Given the description of an element on the screen output the (x, y) to click on. 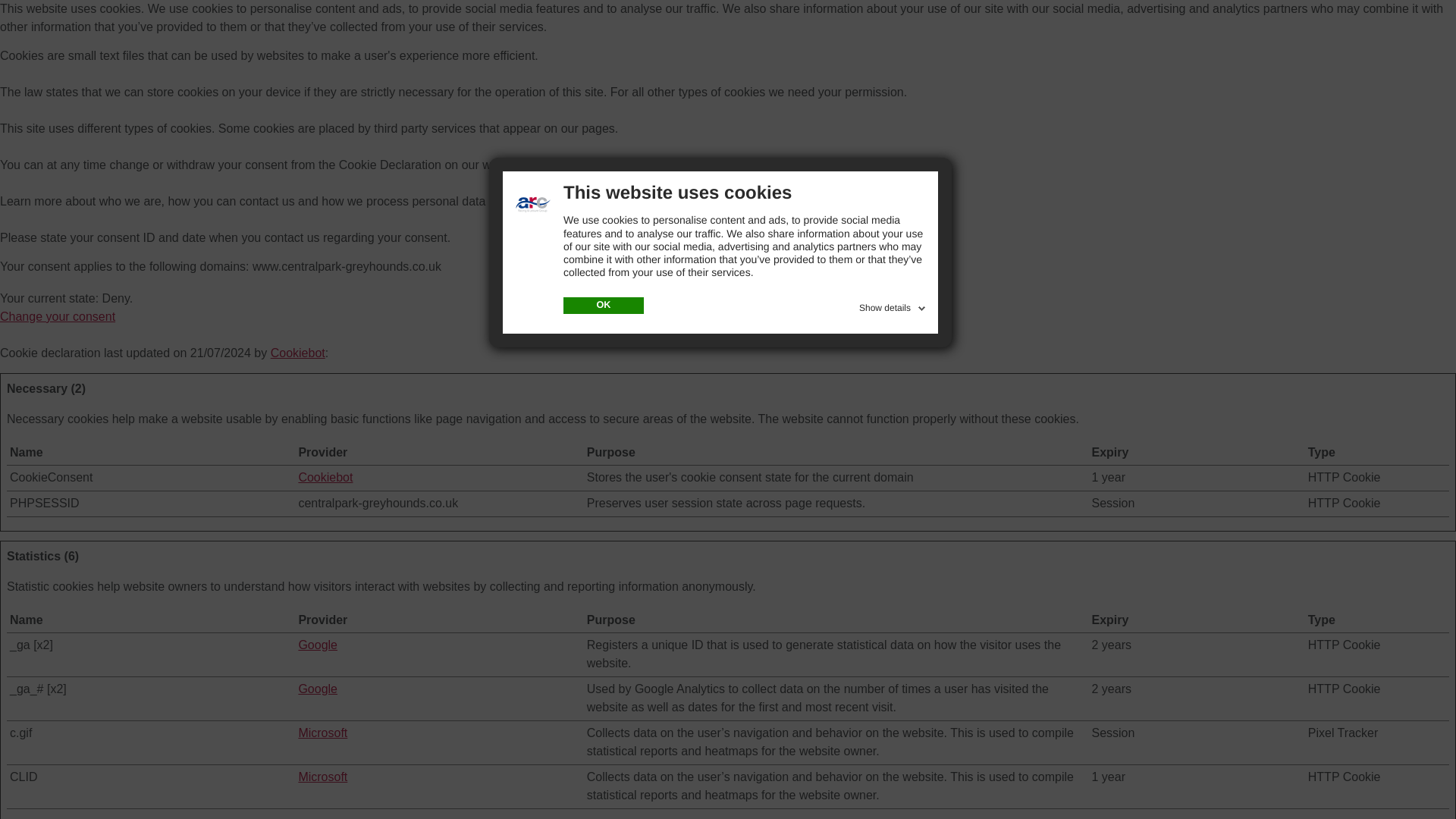
Cookiebot's privacy policy (325, 477)
OK (603, 305)
Cookiebot (297, 352)
Microsoft (322, 732)
Google's privacy policy (317, 688)
Cookiebot (325, 477)
Google's privacy policy (317, 644)
Cookiebot (297, 352)
Microsoft's privacy policy (322, 732)
Google (317, 644)
